Given the description of an element on the screen output the (x, y) to click on. 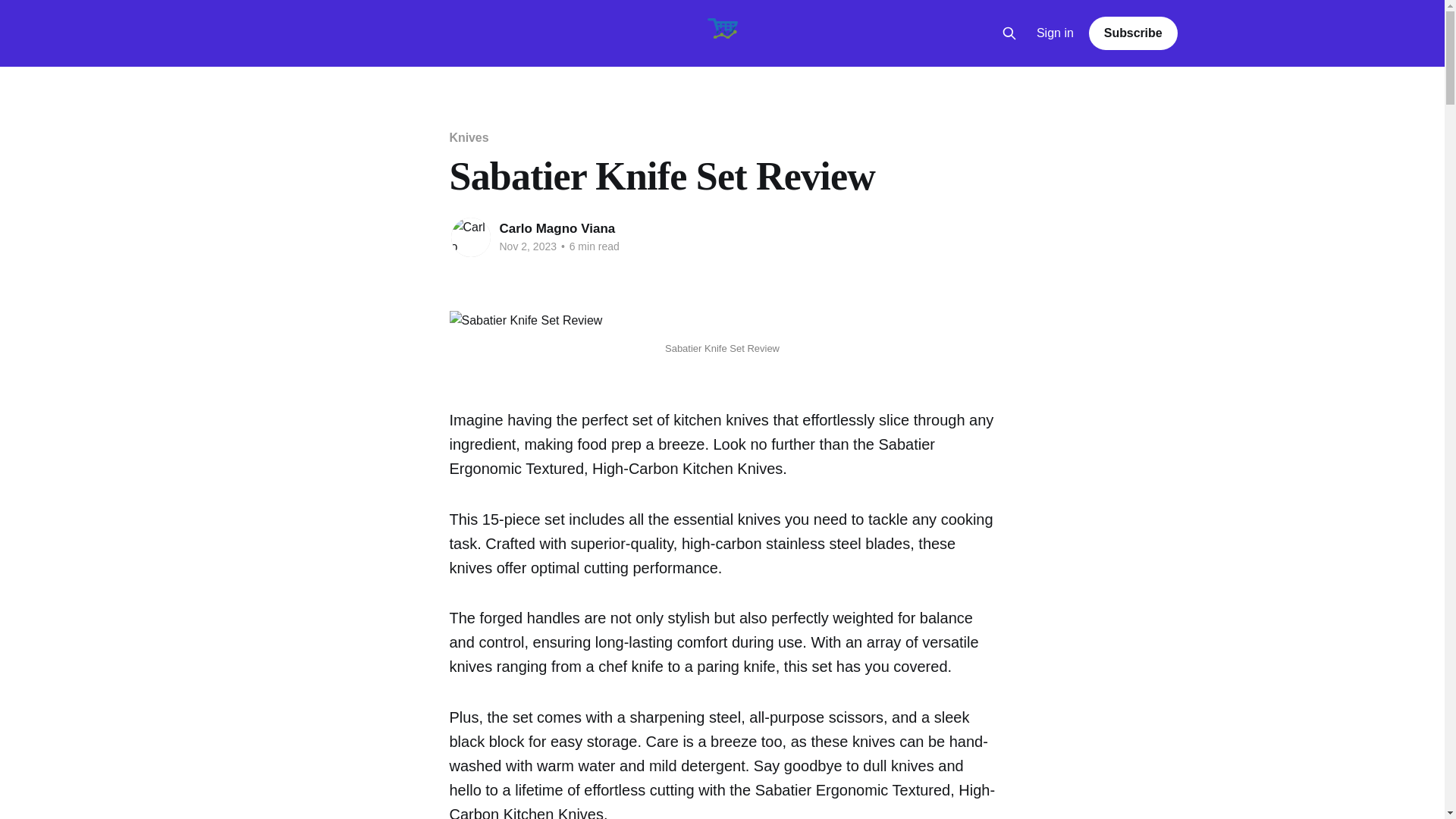
Carlo Magno Viana (556, 228)
Knives (467, 137)
Sign in (1055, 33)
Subscribe (1133, 32)
